Given the description of an element on the screen output the (x, y) to click on. 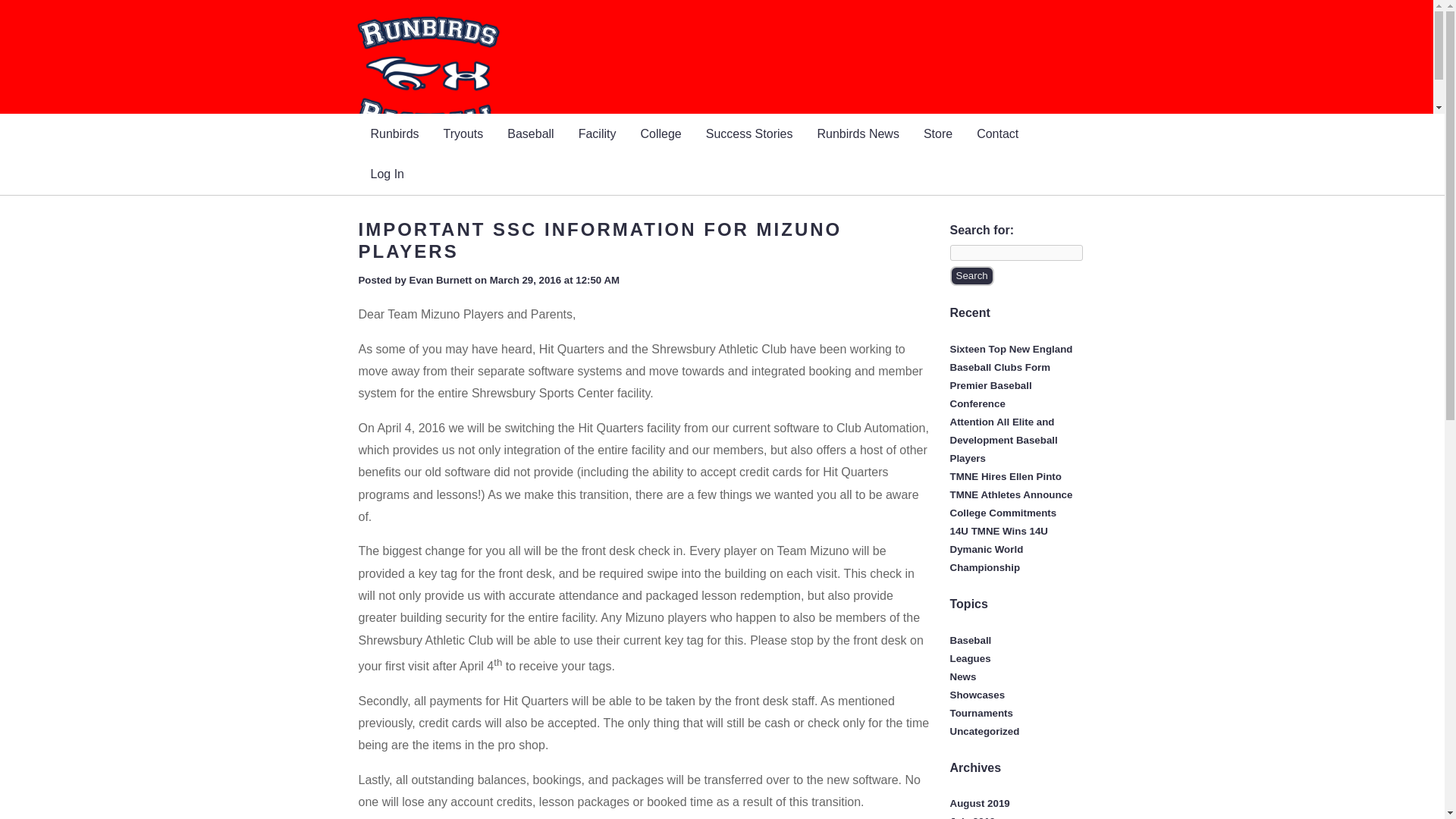
Baseball (530, 133)
14U TMNE Wins 14U Dymanic World Championship (998, 549)
News (962, 676)
Uncategorized (984, 731)
Search (970, 275)
Leagues (969, 658)
Log In (386, 173)
College (660, 133)
July 2019 (971, 817)
Baseball (970, 640)
Facility (597, 133)
Tournaments (980, 713)
TMNE Hires Ellen Pinto (1005, 476)
Attention All Elite and Development Baseball Players (1003, 440)
